Given the description of an element on the screen output the (x, y) to click on. 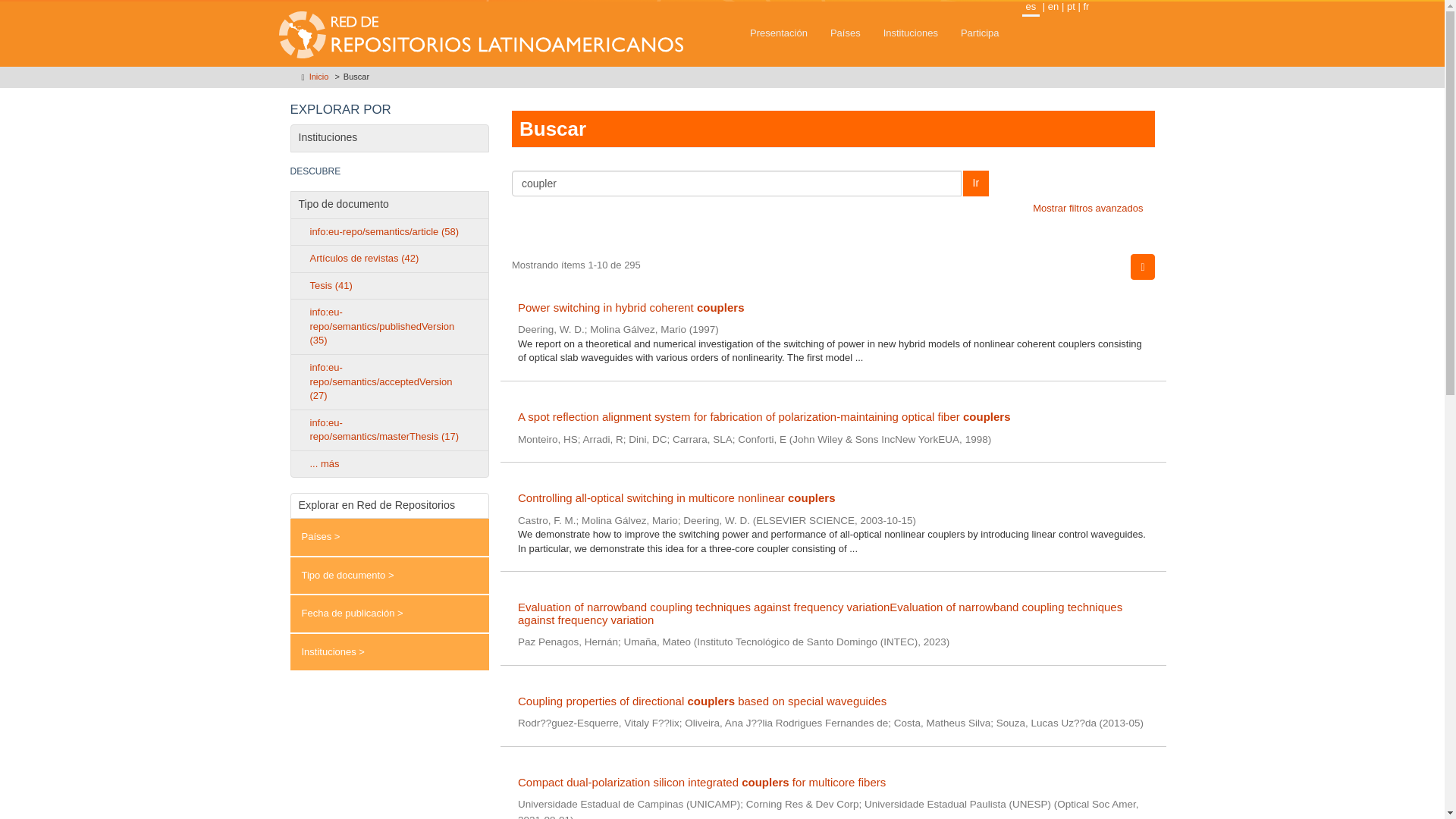
coupler (736, 183)
Power switching in hybrid coherent couplers  (833, 308)
Inicio (318, 76)
Participa (979, 33)
Ir (976, 183)
English (1053, 6)
Mostrar filtros avanzados (1087, 207)
es (1031, 8)
Instituciones (910, 33)
en (1053, 6)
